Given the description of an element on the screen output the (x, y) to click on. 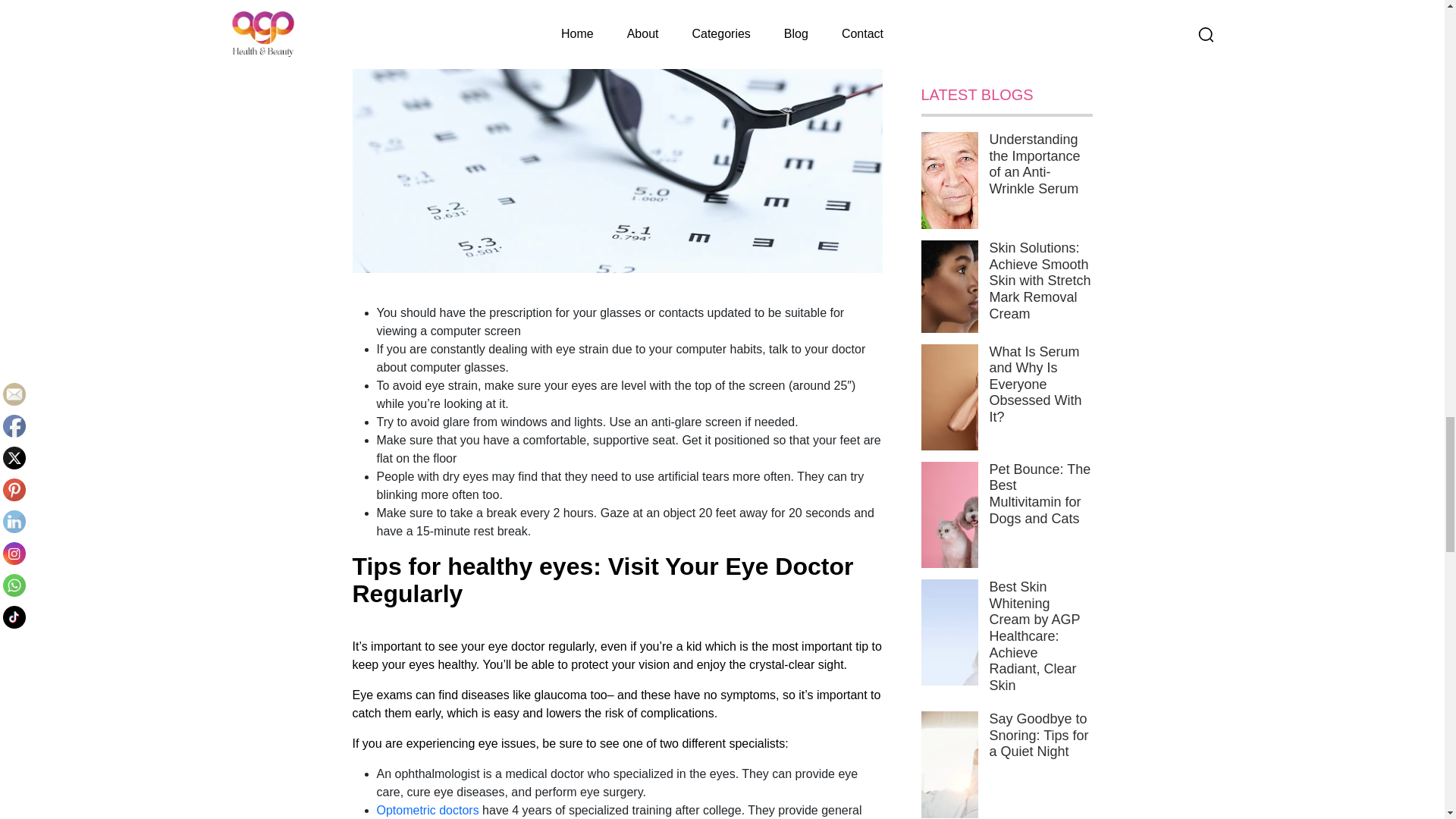
Optometric doctors (427, 809)
